Given the description of an element on the screen output the (x, y) to click on. 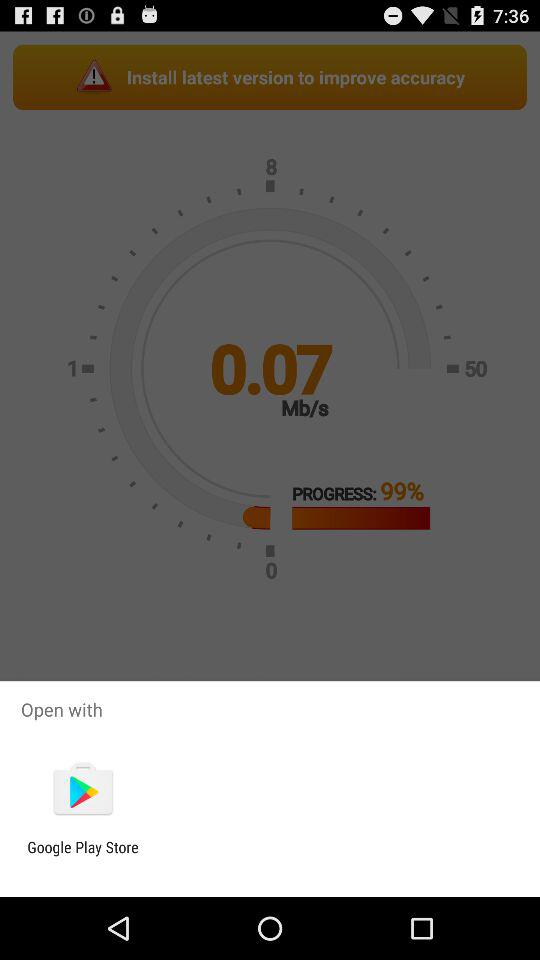
select the item below open with app (82, 789)
